Given the description of an element on the screen output the (x, y) to click on. 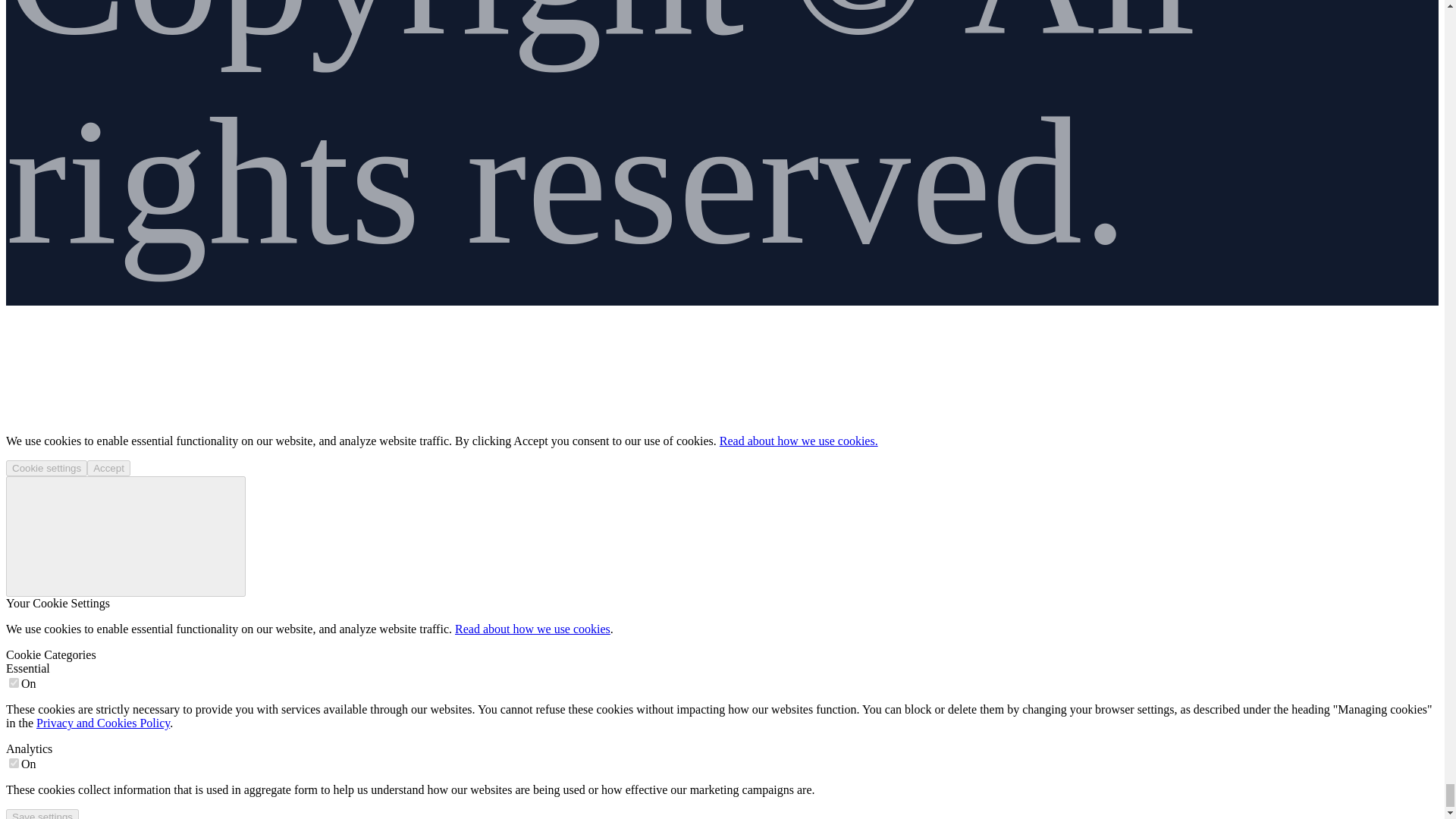
Read about how we use cookies (532, 628)
Read about how we use cookies. (798, 440)
Accept (109, 467)
on (13, 682)
Cookie settings (46, 467)
on (13, 763)
Privacy and Cookies Policy (103, 722)
